Given the description of an element on the screen output the (x, y) to click on. 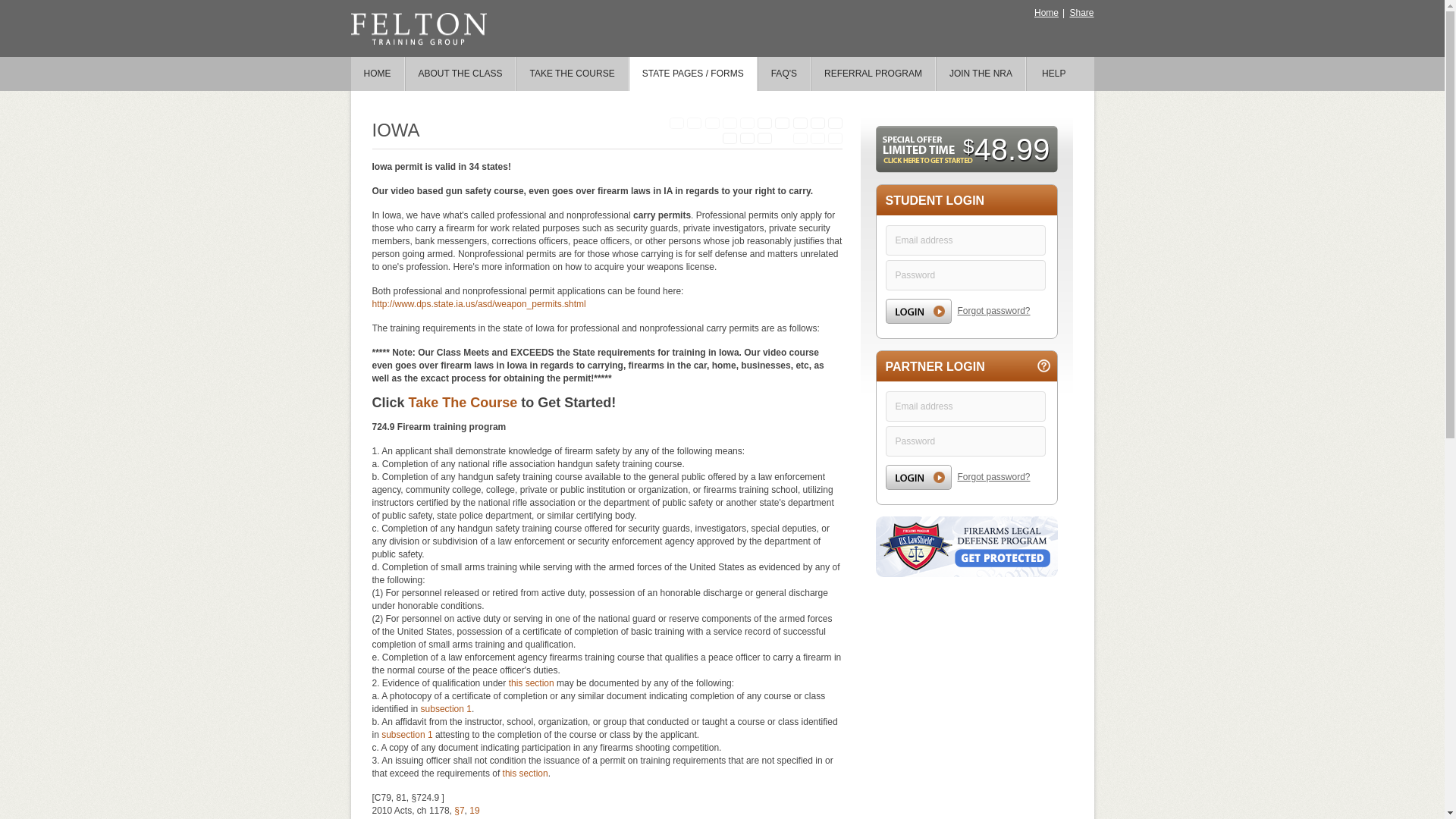
subsection 1 (445, 708)
19 (473, 810)
TAKE THE COURSE (571, 73)
Take The Course (463, 402)
Home (1045, 12)
FAQ'S (783, 73)
this section (531, 683)
HOME (377, 73)
JOIN THE NRA (981, 73)
subsection 1 (406, 734)
Share (1080, 12)
this section (525, 773)
ABOUT THE CLASS (460, 73)
REFERRAL PROGRAM (873, 73)
HELP (1053, 73)
